Given the description of an element on the screen output the (x, y) to click on. 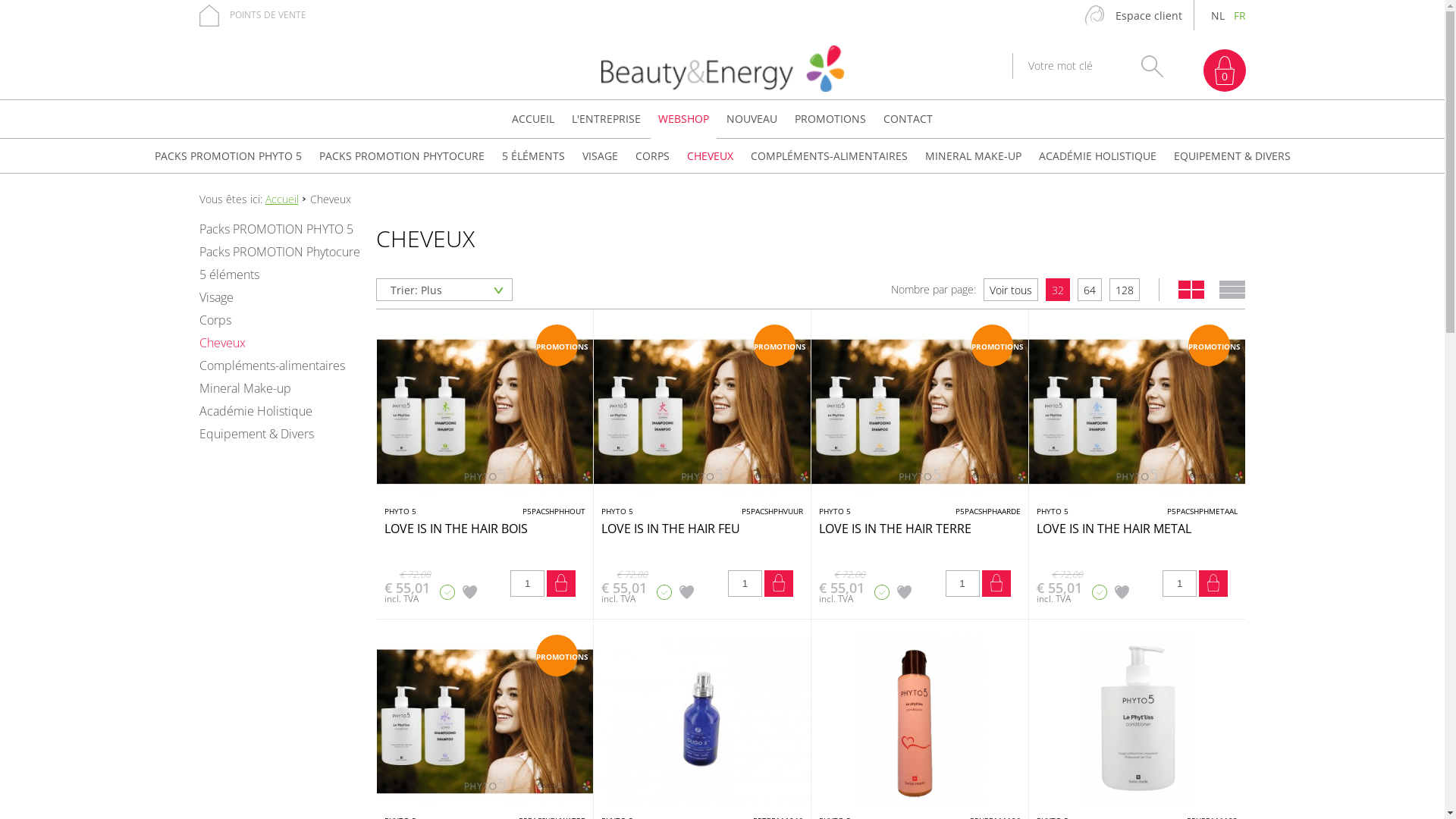
PACKS PROMOTION PHYTO 5 Element type: text (228, 155)
PACKS PROMOTION PHYTOCURE Element type: text (400, 155)
  Element type: text (1191, 289)
LOVE IS IN THE HAIR METAL Element type: hover (1137, 411)
NOUVEAU Element type: text (751, 119)
Espace client Element type: text (1132, 15)
Trier: Plus populaires Element type: text (444, 289)
CHEVEUX Element type: text (709, 155)
Accueil Element type: text (281, 198)
Equipement & Divers Element type: text (279, 433)
WEBSHOP Element type: text (683, 119)
NL Element type: text (1217, 15)
Visage Element type: text (279, 296)
128 Element type: text (1124, 289)
Corps Element type: text (279, 319)
CONTACT Element type: text (907, 119)
OLIGO 5 SPRAY - 50 ML Element type: hover (701, 721)
Beauty&Energy Element type: hover (721, 68)
Packs PROMOTION PHYTO 5 Element type: text (279, 228)
Chercher Element type: hover (1151, 66)
PROMOTIONS Element type: text (830, 119)
ACCUEIL Element type: text (532, 119)
LE CONDITIONNEUR PHYTLISS - 100ML Element type: hover (919, 721)
MINERAL MAKE-UP Element type: text (973, 155)
EQUIPEMENT & DIVERS Element type: text (1232, 155)
64 Element type: text (1089, 289)
LOVE IS IN THE HAIR EAU Element type: hover (484, 721)
POINTS DE VENTE Element type: text (251, 15)
LE CONDITIONNEUR PHYTLISS - 500ML Element type: hover (1137, 721)
Chercher Element type: text (1151, 66)
Affichage en bloc Element type: hover (1191, 289)
Packs PROMOTION Phytocure Element type: text (279, 251)
Voir tous Element type: text (1010, 289)
Cheveux Element type: text (279, 342)
Affichage de liste Element type: hover (1232, 289)
VISAGE Element type: text (599, 155)
Mineral Make-up Element type: text (279, 387)
0 Element type: text (1223, 70)
Beauty&Energy Element type: hover (722, 69)
LOVE IS IN THE HAIR TERRE Element type: hover (919, 411)
LOVE IS IN THE HAIR FEU Element type: hover (701, 411)
LOVE IS IN THE HAIR BOIS Element type: hover (484, 411)
CORPS Element type: text (652, 155)
  Element type: text (1232, 289)
L'ENTREPRISE Element type: text (606, 119)
